Given the description of an element on the screen output the (x, y) to click on. 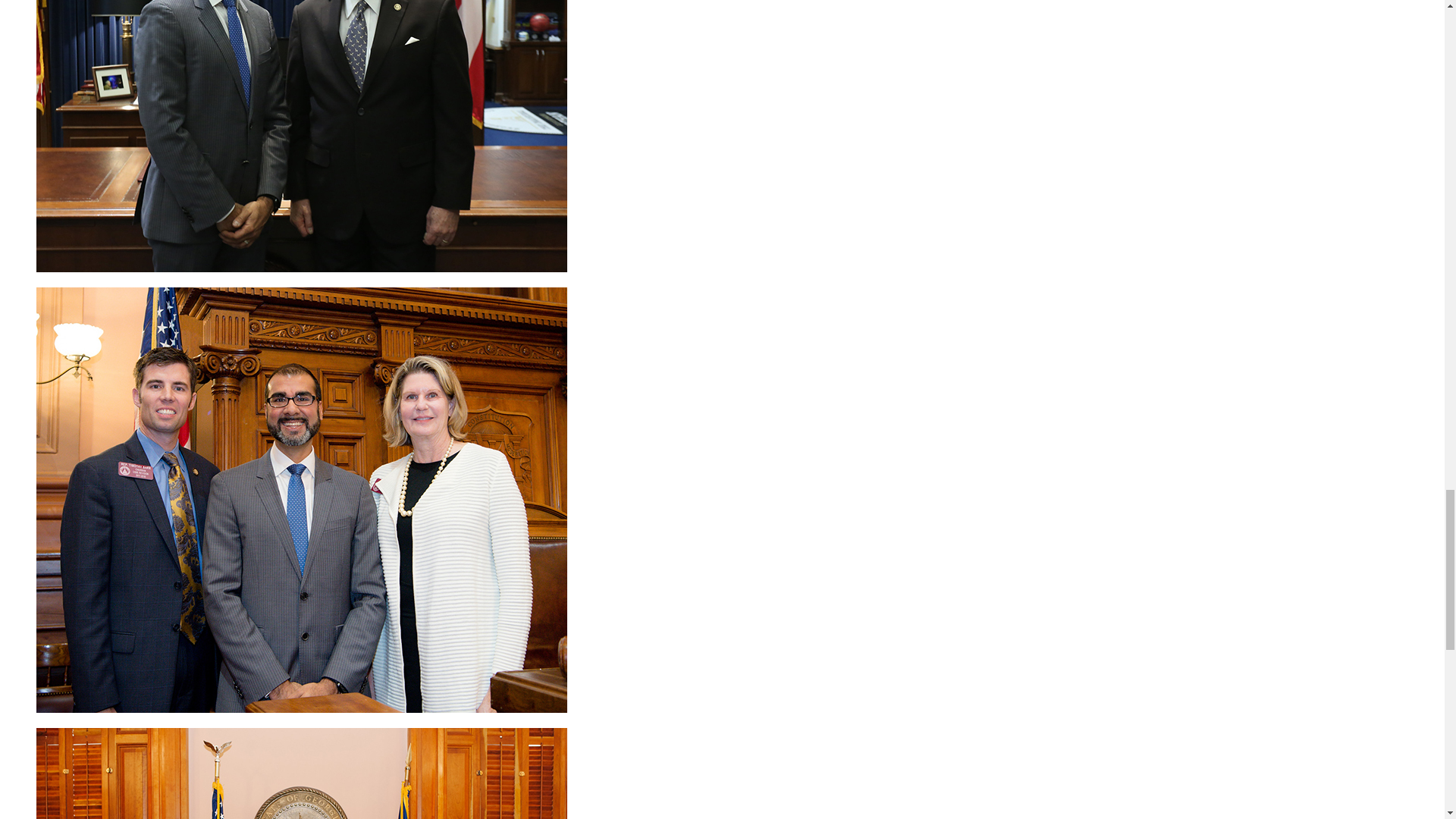
Snehal Dalal, MD, OrthoAtlanta, Georgia State Capitol (301, 773)
